Given the description of an element on the screen output the (x, y) to click on. 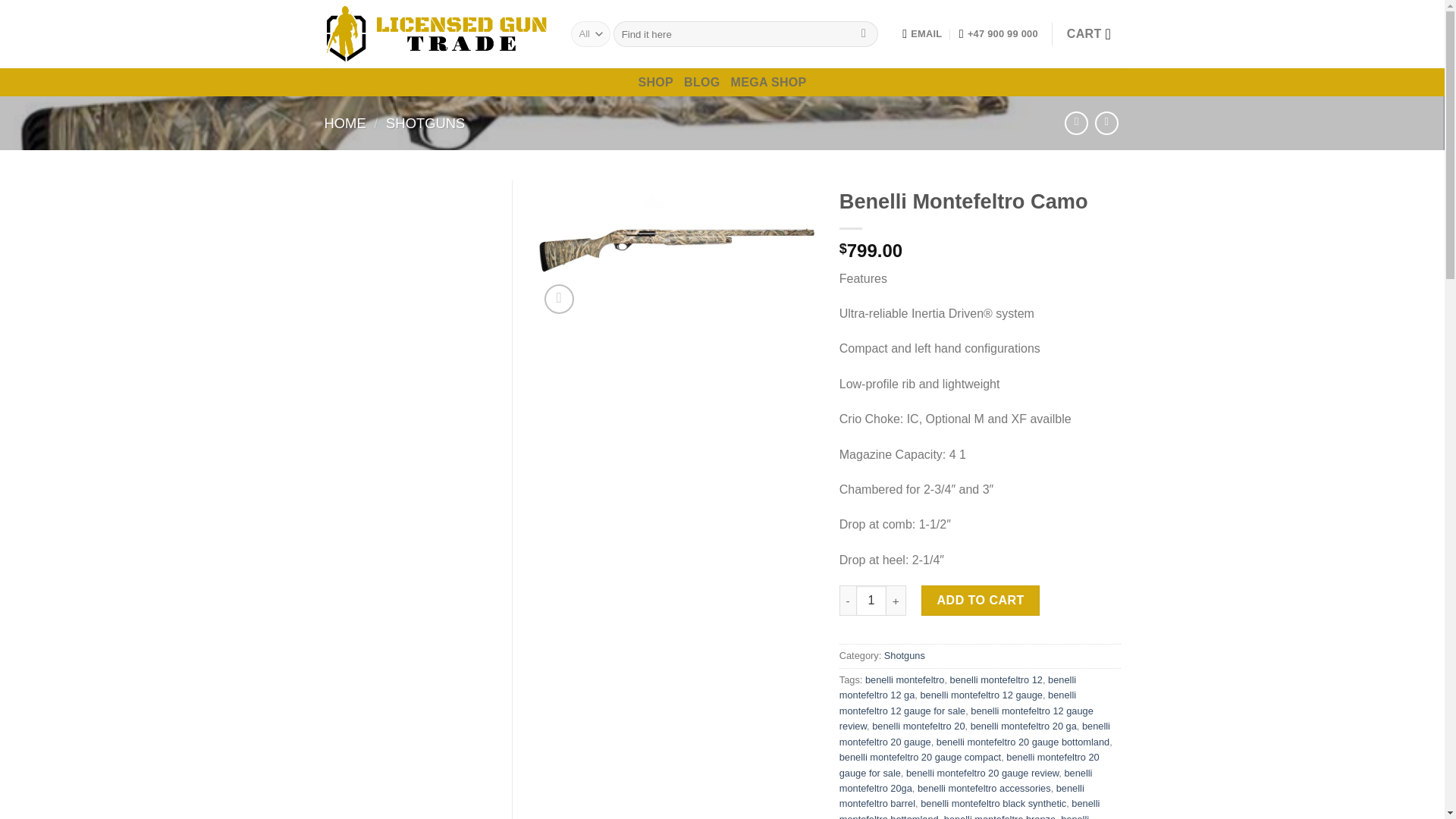
benelli montefeltro 20 ga (1024, 726)
benelli montefeltro 20 gauge bottomland (1022, 741)
MEGA SHOP (768, 81)
Licensed Gun Trader (436, 33)
benelli montefeltro 20 gauge review (981, 772)
ADD TO CART (980, 600)
HOME (345, 123)
benelli montefeltro 12 gauge for sale (957, 702)
SHOTGUNS (424, 123)
Zoom (558, 298)
benelli montefeltro 20 gauge compact (920, 756)
Search (863, 33)
benelli montefeltro barrel (962, 795)
benelli montefeltro 20 gauge for sale (969, 764)
Shotguns (903, 655)
